Given the description of an element on the screen output the (x, y) to click on. 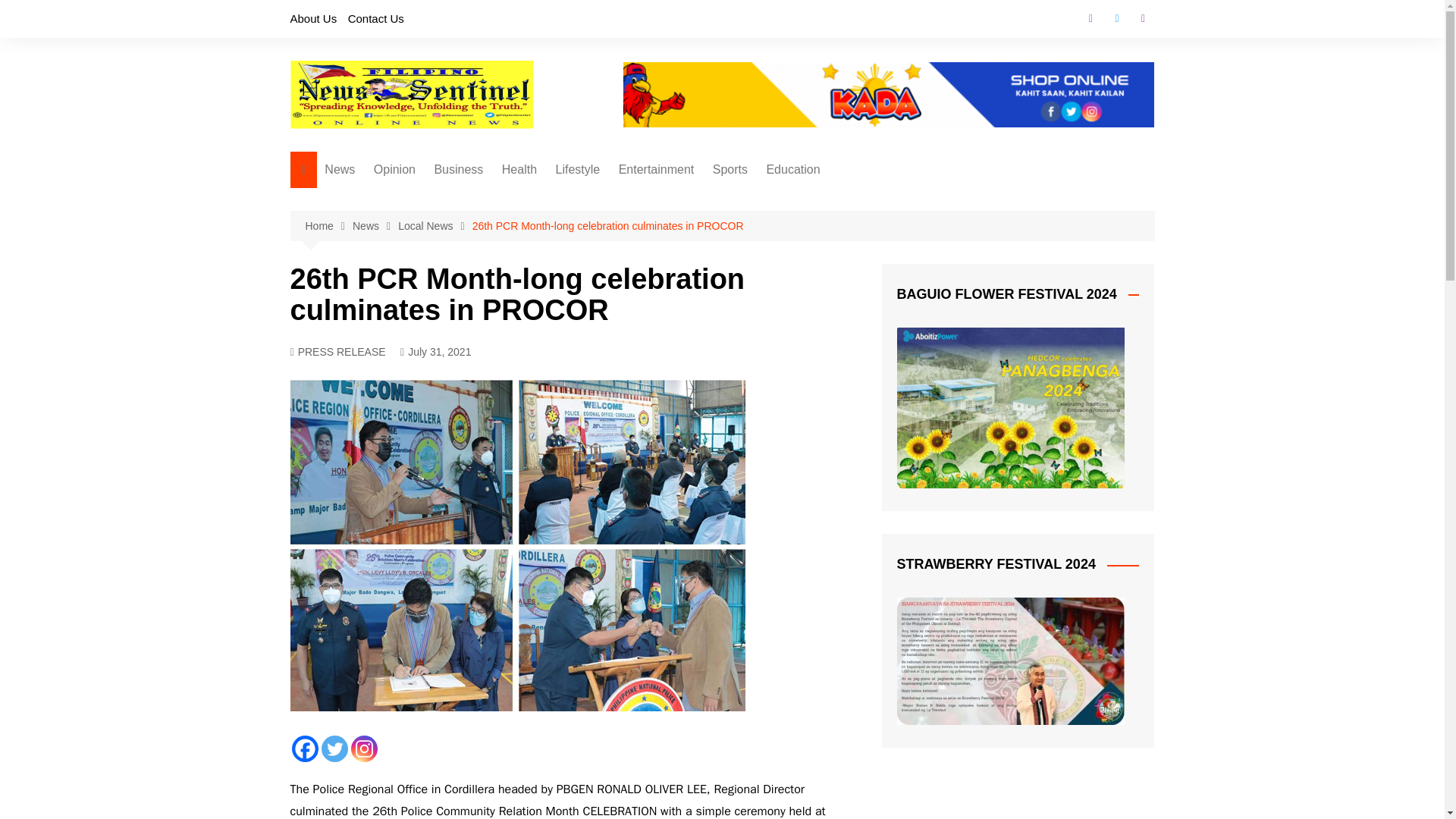
Facebook (1091, 18)
About Us (312, 18)
Tourism (630, 200)
Business (458, 169)
Twitter (1116, 18)
Opinion (394, 169)
Islam is the Solution (449, 250)
Culture (630, 250)
Buhay OFW (449, 225)
July 31, 2021 (435, 352)
26th PCR Month-long celebration culminates in PROCOR (607, 225)
Instagram (363, 748)
Arts and Crafts (630, 225)
Region 1 (400, 275)
News (374, 226)
